Given the description of an element on the screen output the (x, y) to click on. 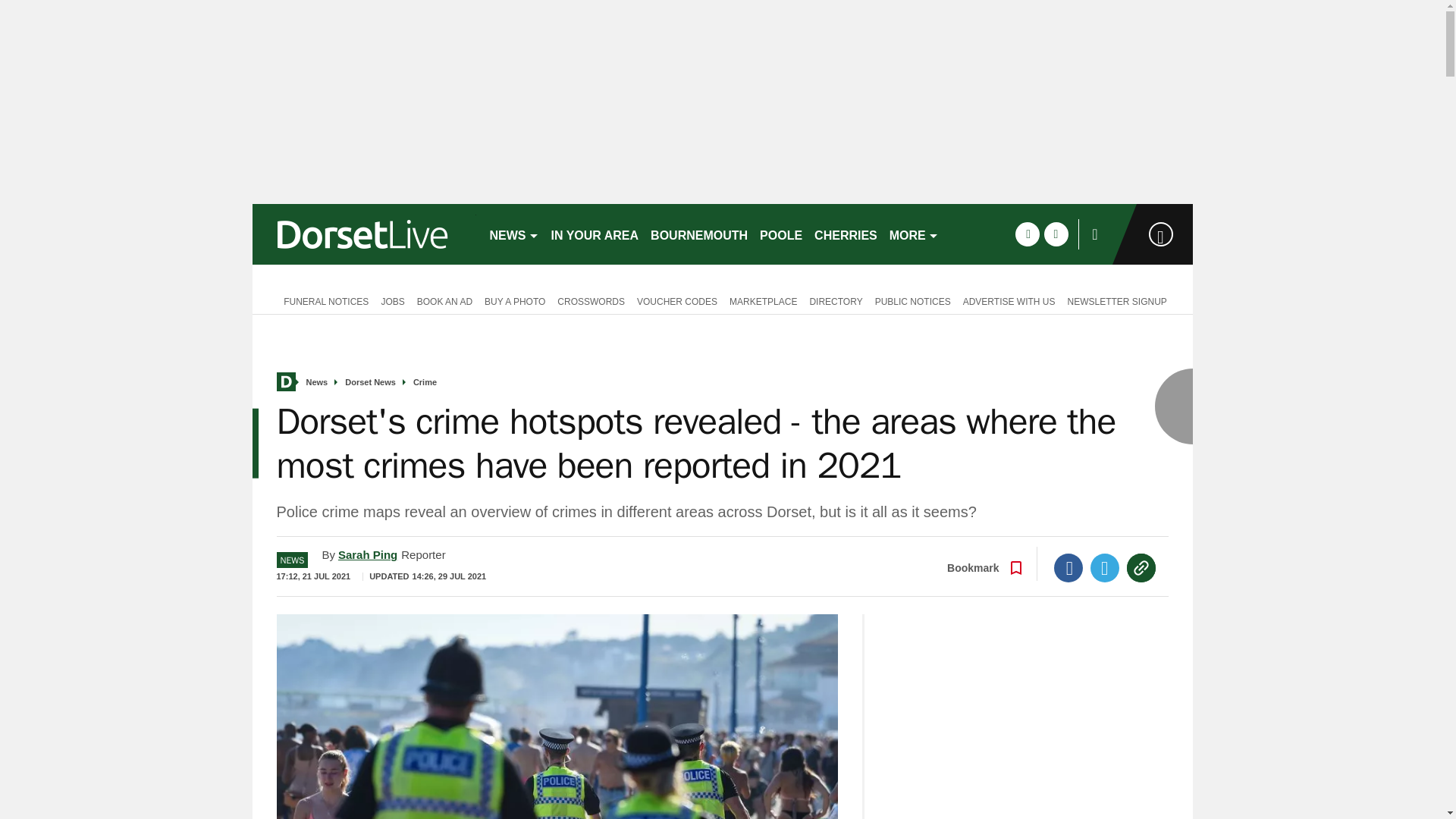
CROSSWORDS (590, 300)
dorsetlive (363, 233)
DIRECTORY (835, 300)
BUY A PHOTO (515, 300)
Twitter (1104, 567)
VOUCHER CODES (676, 300)
BOURNEMOUTH (699, 233)
BOOK AN AD (444, 300)
MARKETPLACE (763, 300)
NEWS (513, 233)
